Given the description of an element on the screen output the (x, y) to click on. 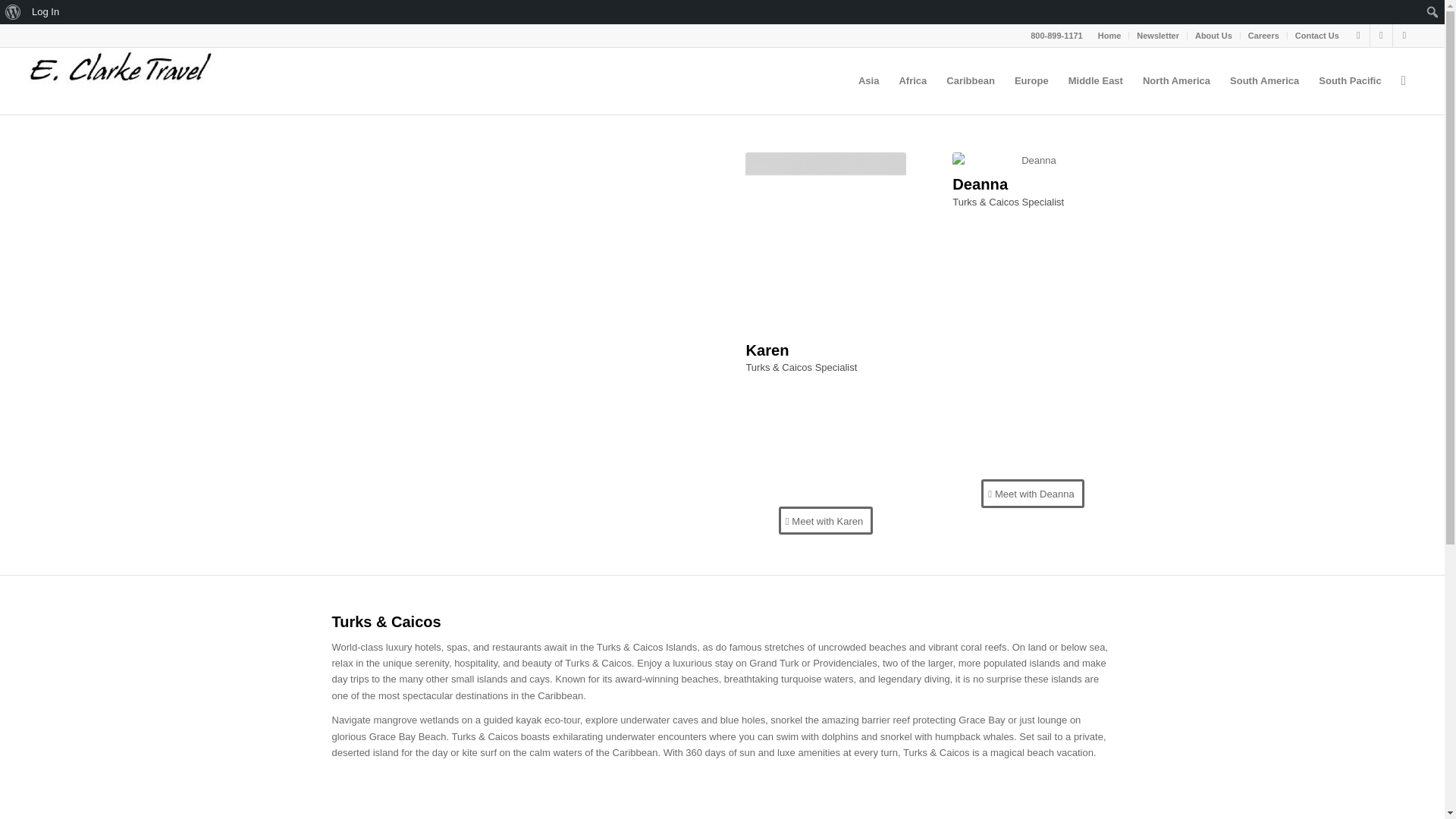
Home (1109, 35)
Mail (1404, 35)
Caribbean (970, 80)
Search (15, 12)
Contact Us (1317, 35)
Log In (45, 12)
Newsletter (1158, 35)
Instagram (1380, 35)
Careers (1263, 35)
Facebook (1359, 35)
